Given the description of an element on the screen output the (x, y) to click on. 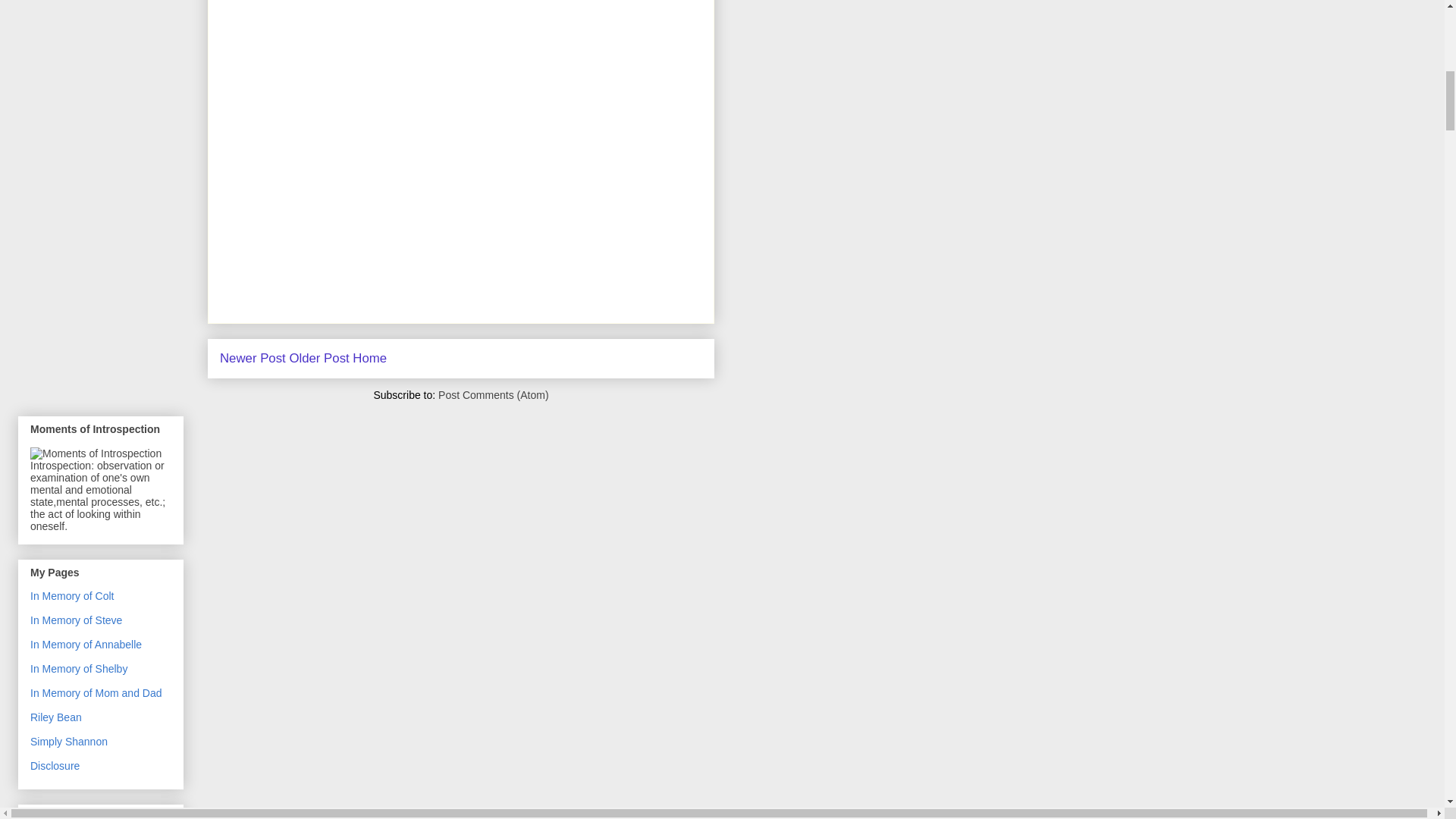
In Memory of Shelby (79, 668)
Riley Bean (55, 717)
In Memory of Colt (71, 595)
Disclosure (55, 766)
Simply Shannon (68, 741)
Older Post (318, 358)
Newer Post (252, 358)
In Memory of Annabelle (85, 644)
In Memory of Mom and Dad (95, 693)
Newer Post (252, 358)
Older Post (318, 358)
Home (369, 358)
In Memory of Steve (76, 620)
